Given the description of an element on the screen output the (x, y) to click on. 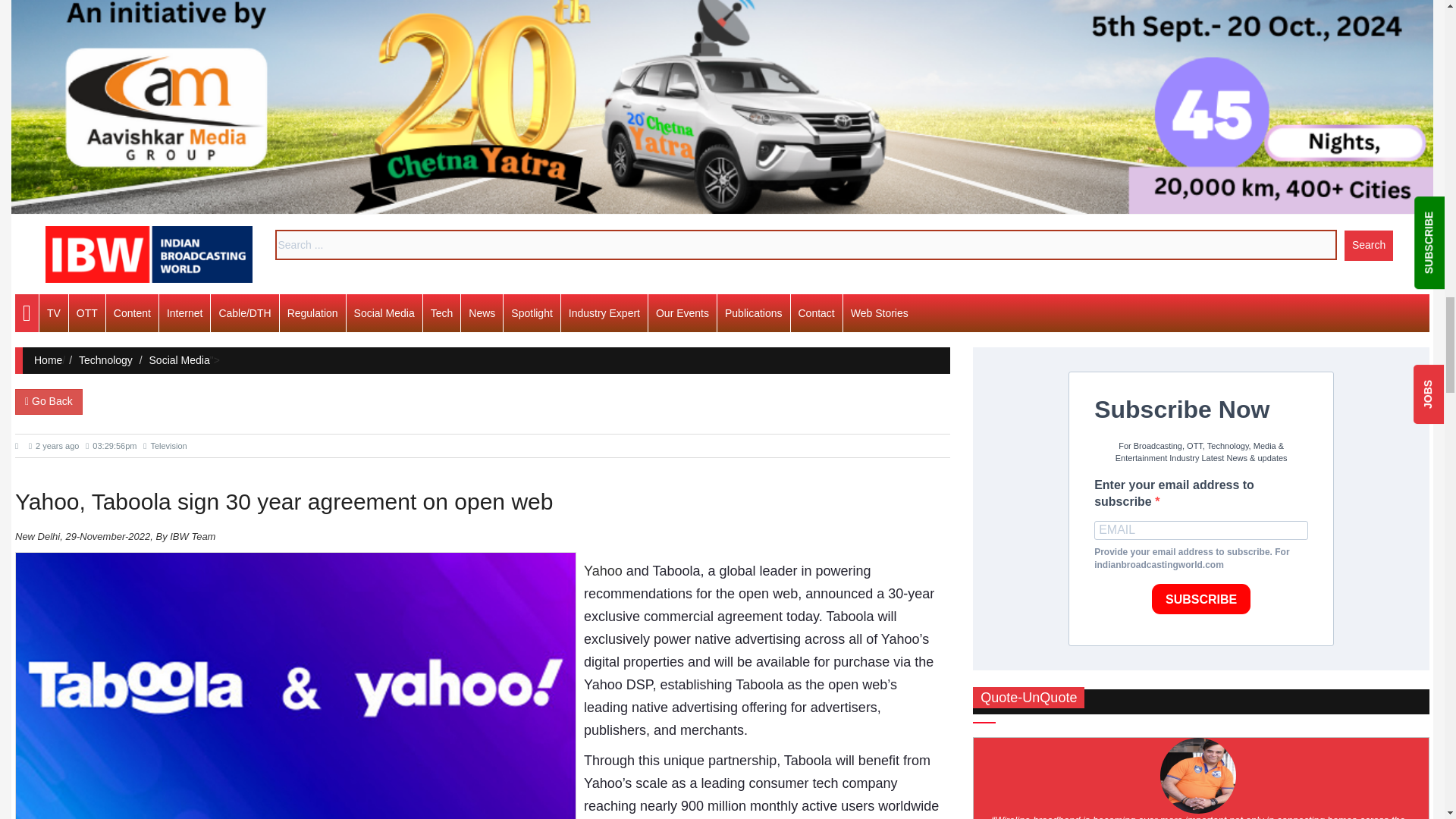
Content (131, 313)
OTT (86, 313)
Internet (183, 313)
Search (1368, 245)
Search (1368, 245)
Search (1368, 245)
